Given the description of an element on the screen output the (x, y) to click on. 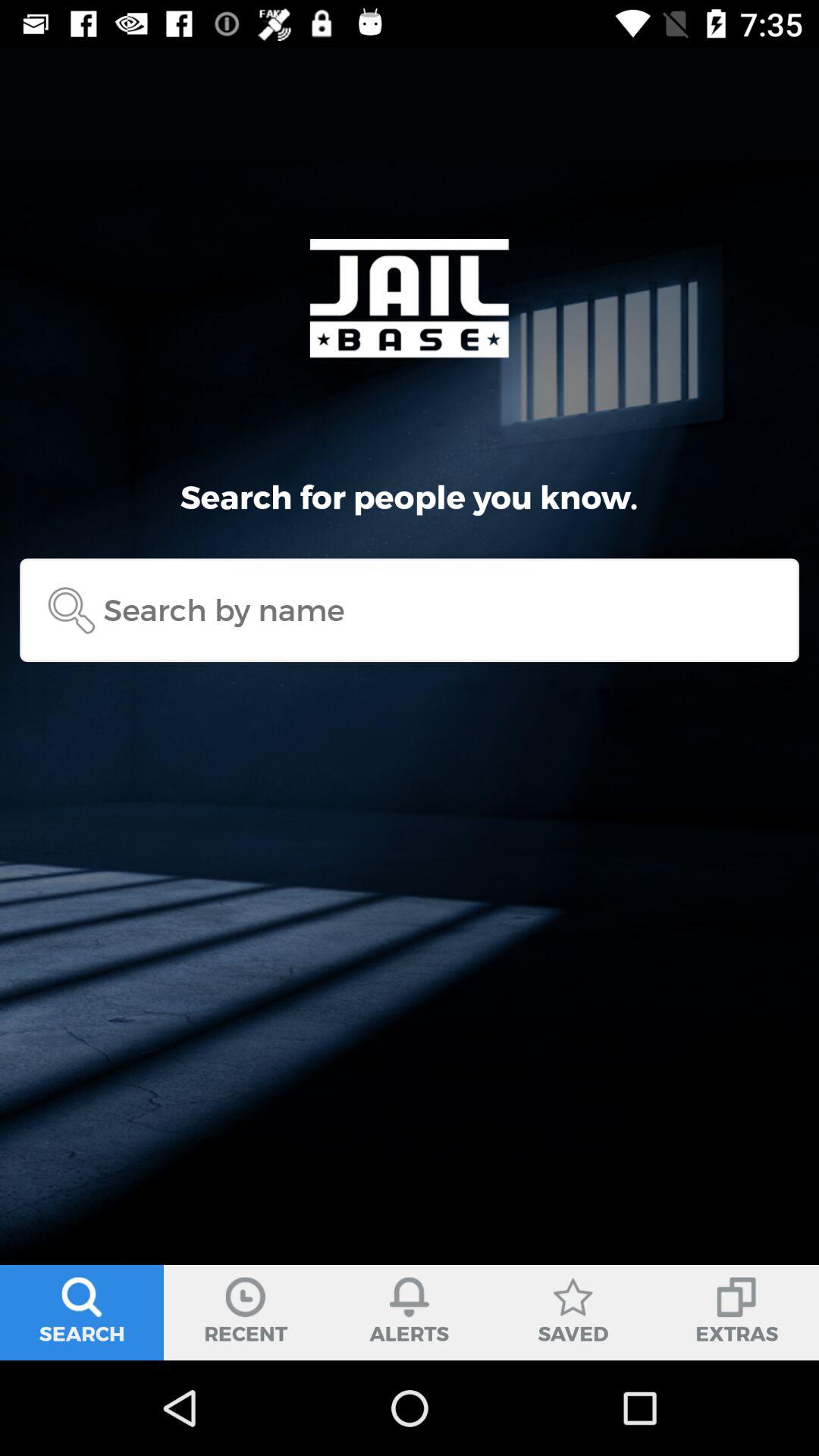
click recent (245, 1312)
select a text jail base on a page (409, 298)
